Given the description of an element on the screen output the (x, y) to click on. 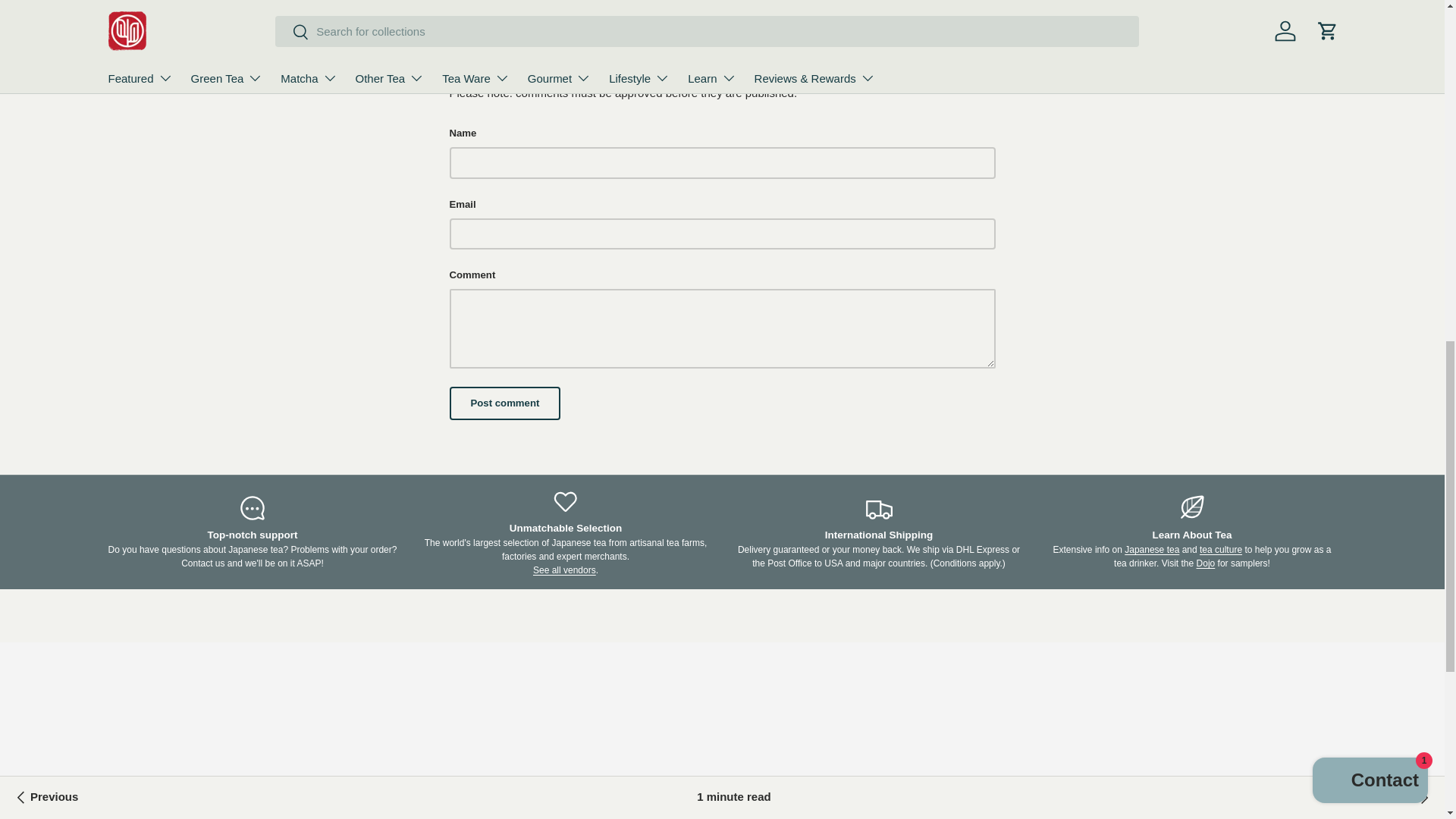
Tweet on X (505, 5)
Vendors (563, 570)
All About Japanese Tea Culture (1220, 549)
The Yunomi Dojo (1205, 562)
Share on Facebook (539, 5)
Professional's Guide to Japanese Tea (1151, 549)
